Given the description of an element on the screen output the (x, y) to click on. 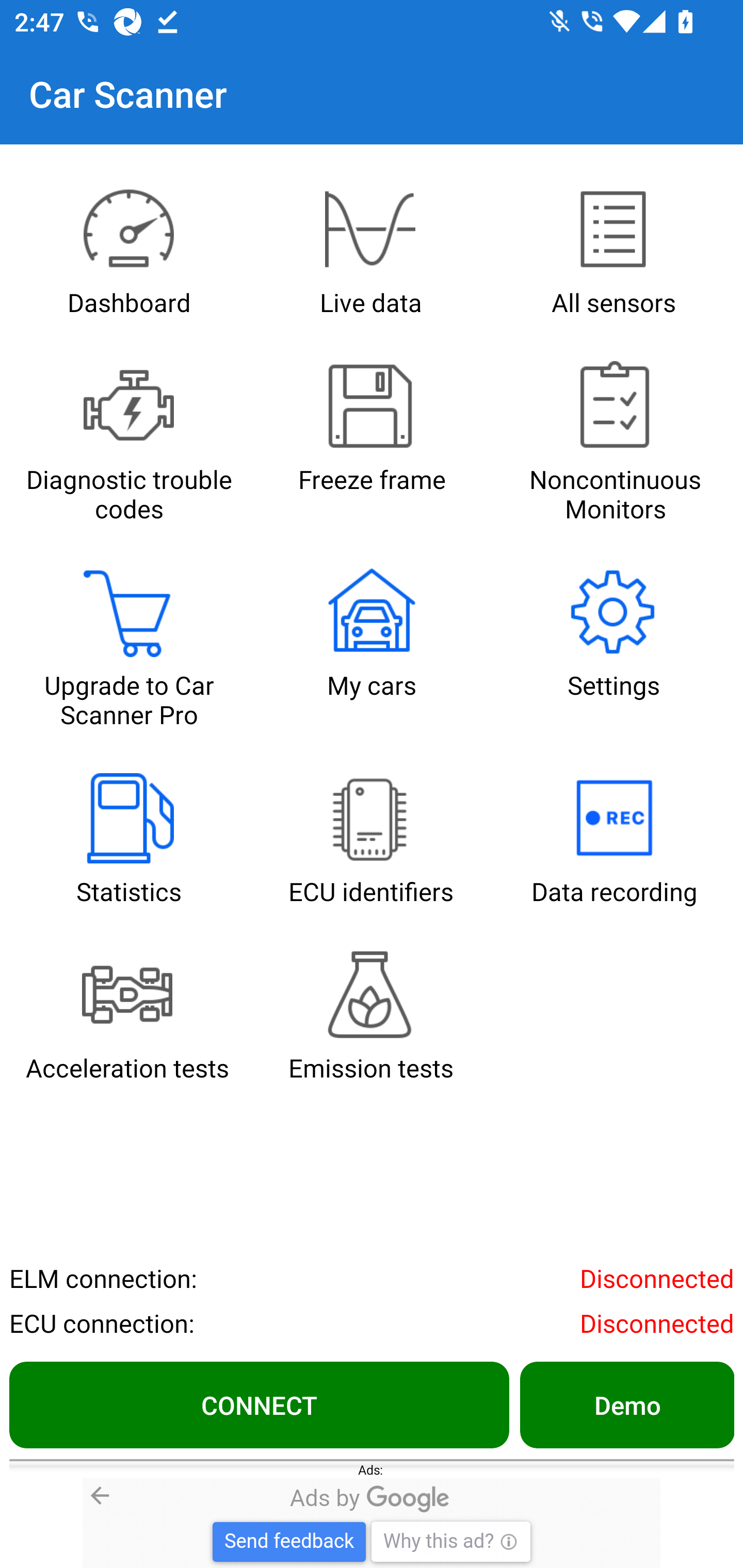
CONNECT (258, 1404)
Demo (627, 1404)
